Given the description of an element on the screen output the (x, y) to click on. 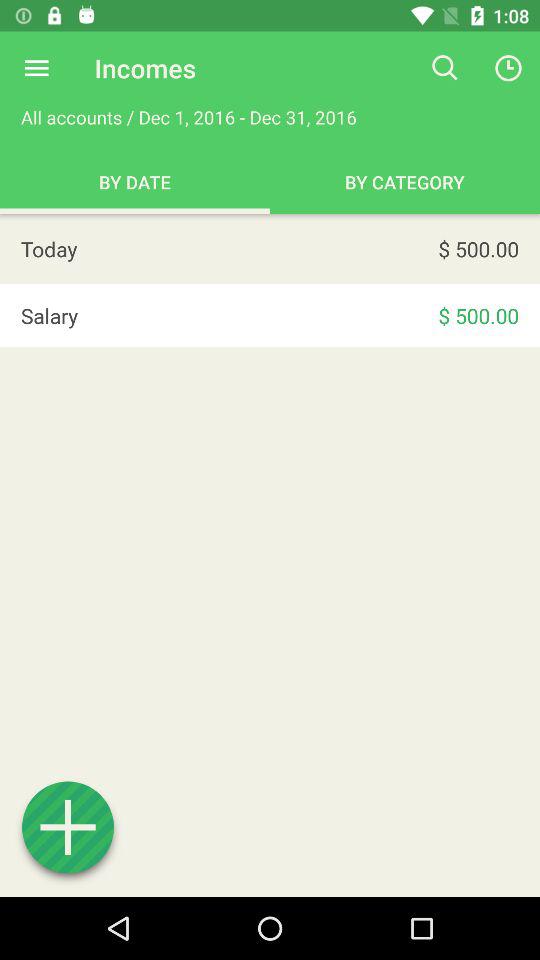
open menu (36, 68)
